Given the description of an element on the screen output the (x, y) to click on. 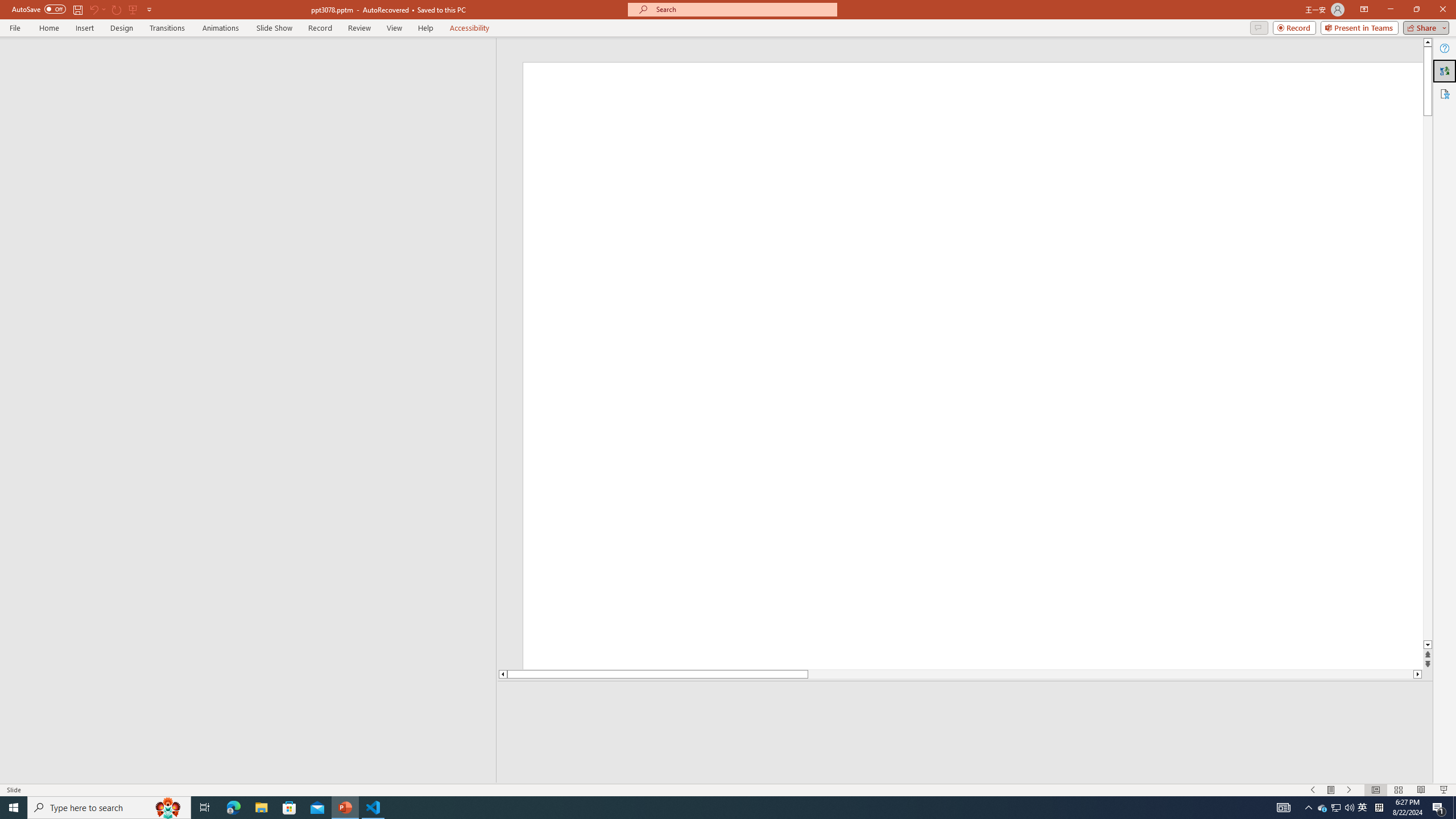
Menu On (1331, 790)
